Given the description of an element on the screen output the (x, y) to click on. 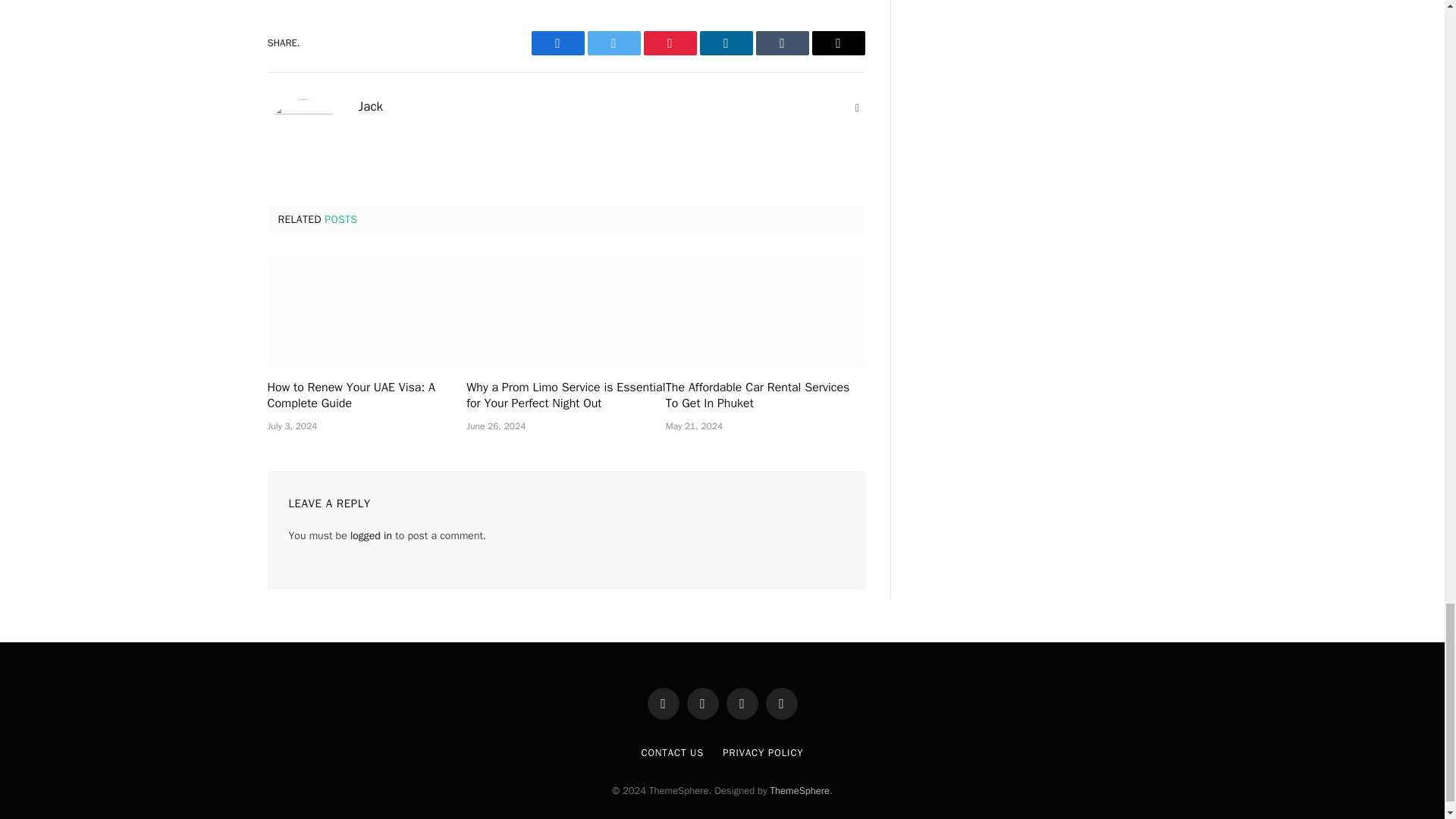
Pinterest (669, 43)
Facebook (557, 43)
Twitter (613, 43)
